Given the description of an element on the screen output the (x, y) to click on. 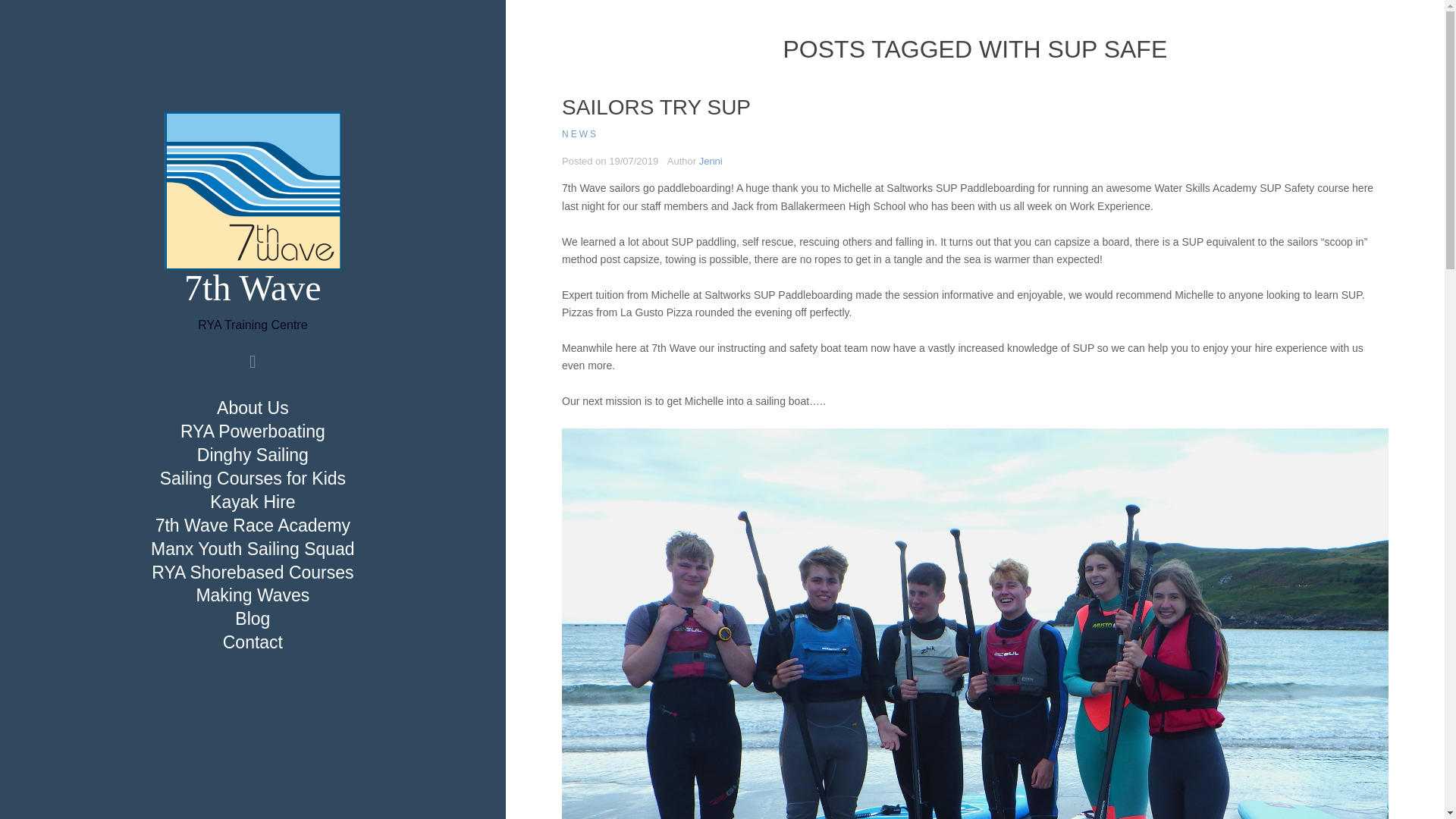
NEWS (580, 133)
Facebook (252, 361)
Blog (252, 618)
RYA Shorebased Courses (252, 572)
Making Waves (252, 594)
Dinghy Sailing (252, 454)
Sailing Courses for Kids (253, 478)
Kayak Hire (252, 501)
SAILORS TRY SUP (656, 106)
Manx Youth Sailing Squad (252, 548)
Contact (253, 642)
RYA Powerboating (252, 430)
About Us (253, 407)
Jenni (710, 161)
7th Wave (252, 287)
